Given the description of an element on the screen output the (x, y) to click on. 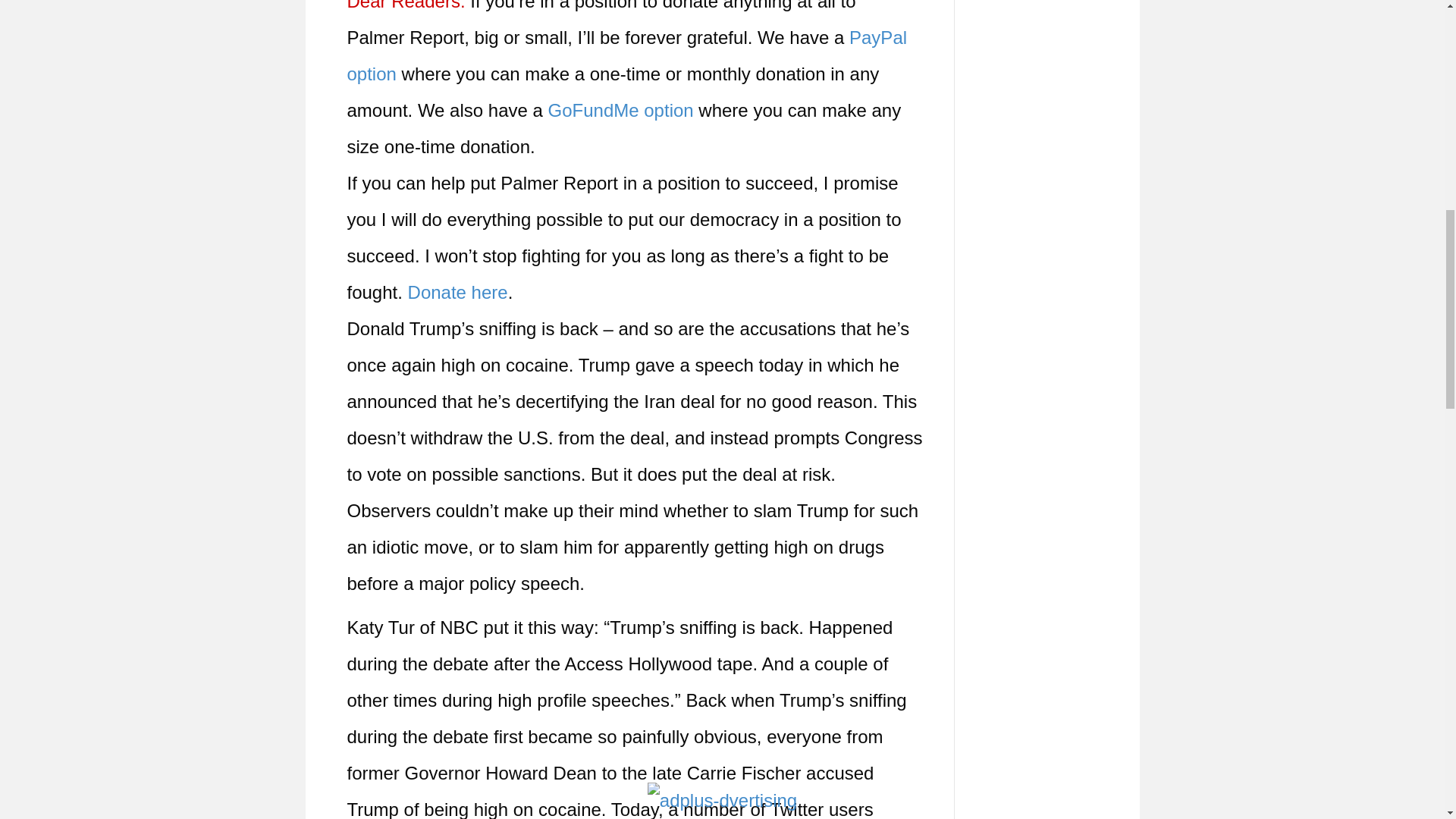
PayPal option (627, 55)
GoFundMe option (621, 109)
Donate here (457, 291)
